Given the description of an element on the screen output the (x, y) to click on. 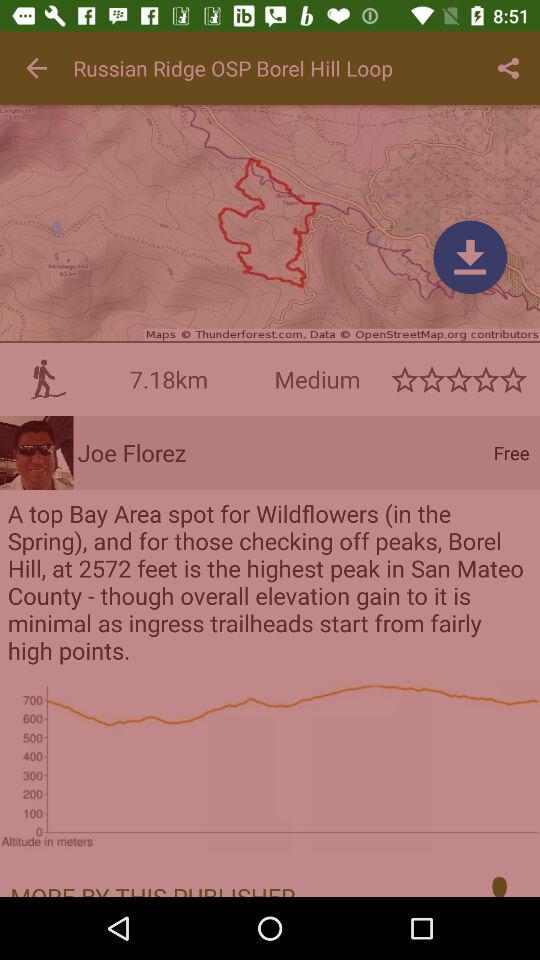
click the item to the right of the russian ridge osp (508, 67)
